Given the description of an element on the screen output the (x, y) to click on. 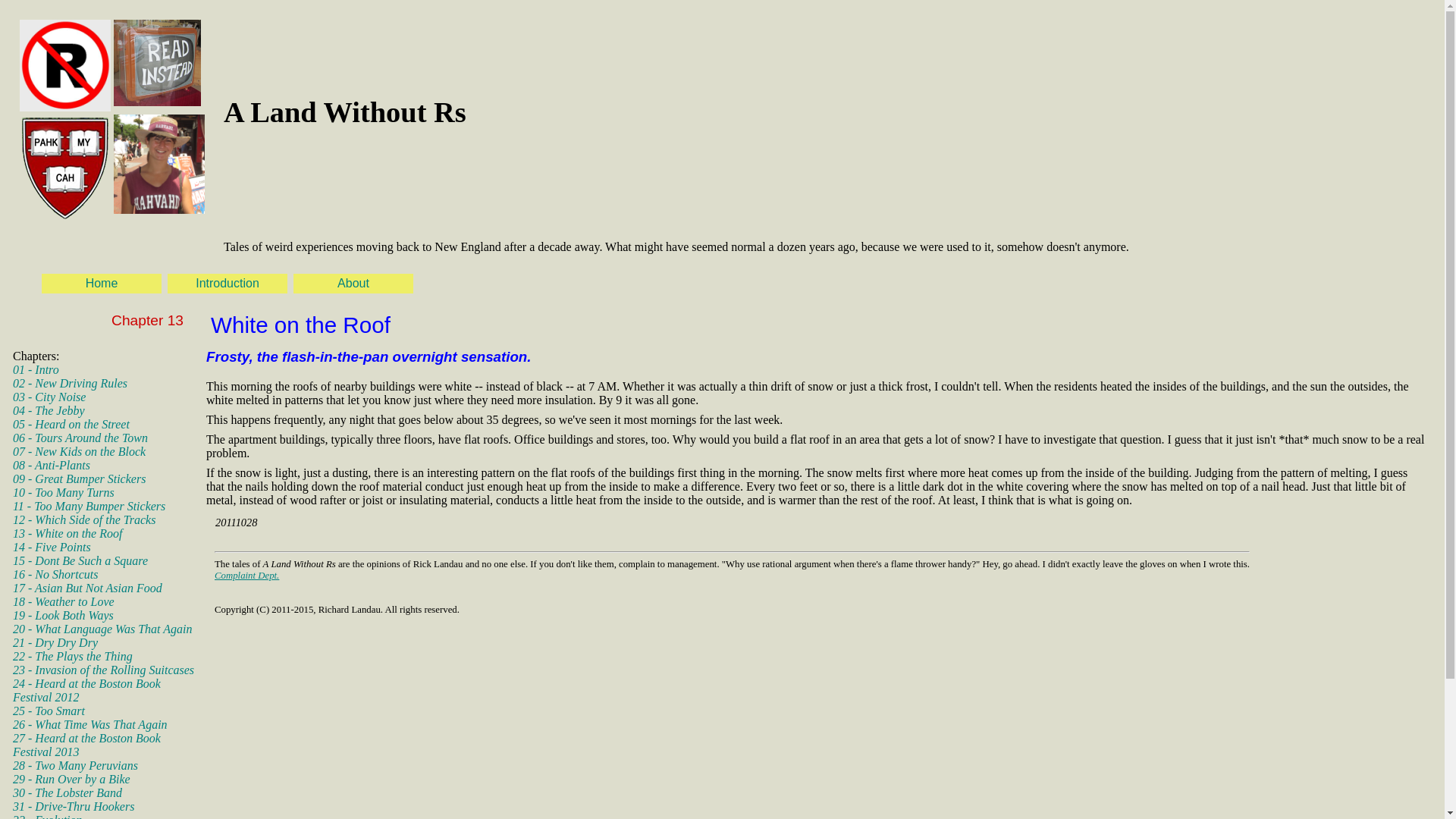
08 - Anti-Plants (51, 464)
31 - Drive-Thru Hookers (73, 806)
26 - What Time Was That Again (90, 724)
21 - Dry Dry Dry (55, 642)
10 - Too Many Turns (64, 492)
Even the TV Says to Read (156, 62)
14 - Five Points (51, 546)
27 - Heard at the Boston Book Festival 2013 (86, 745)
03 - City Noise (49, 396)
22 - The Plays the Thing (72, 656)
